Given the description of an element on the screen output the (x, y) to click on. 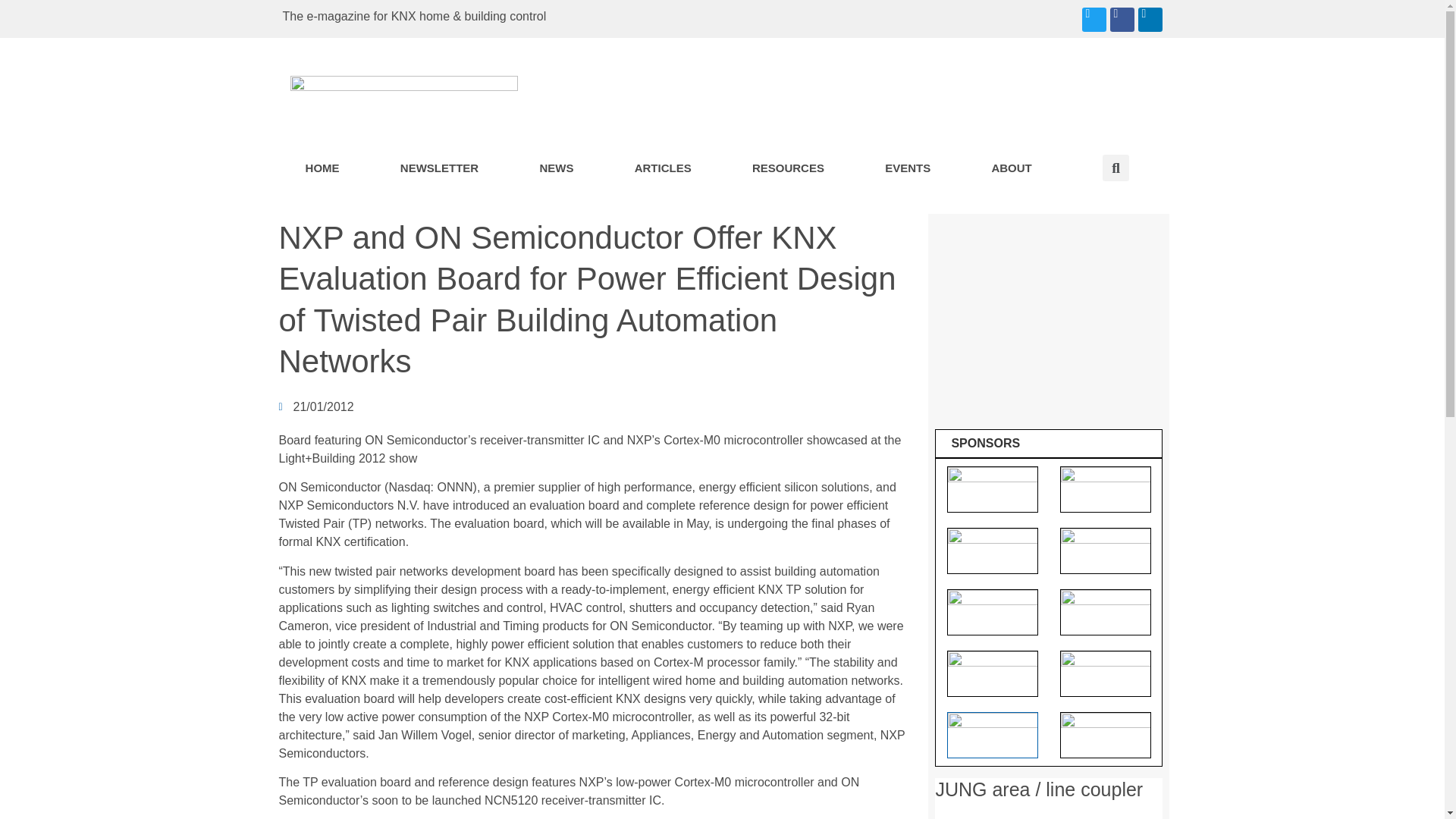
HOME (322, 167)
RESOURCES (788, 167)
NEWS (556, 167)
NEWSLETTER (439, 167)
ABOUT (1011, 167)
EVENTS (907, 167)
ARTICLES (663, 167)
